Given the description of an element on the screen output the (x, y) to click on. 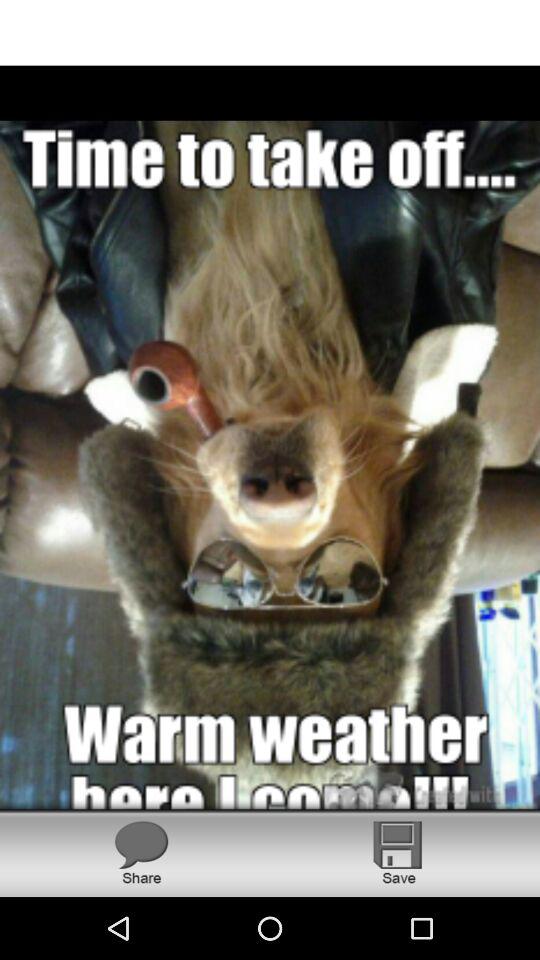
share the photo (141, 852)
